Given the description of an element on the screen output the (x, y) to click on. 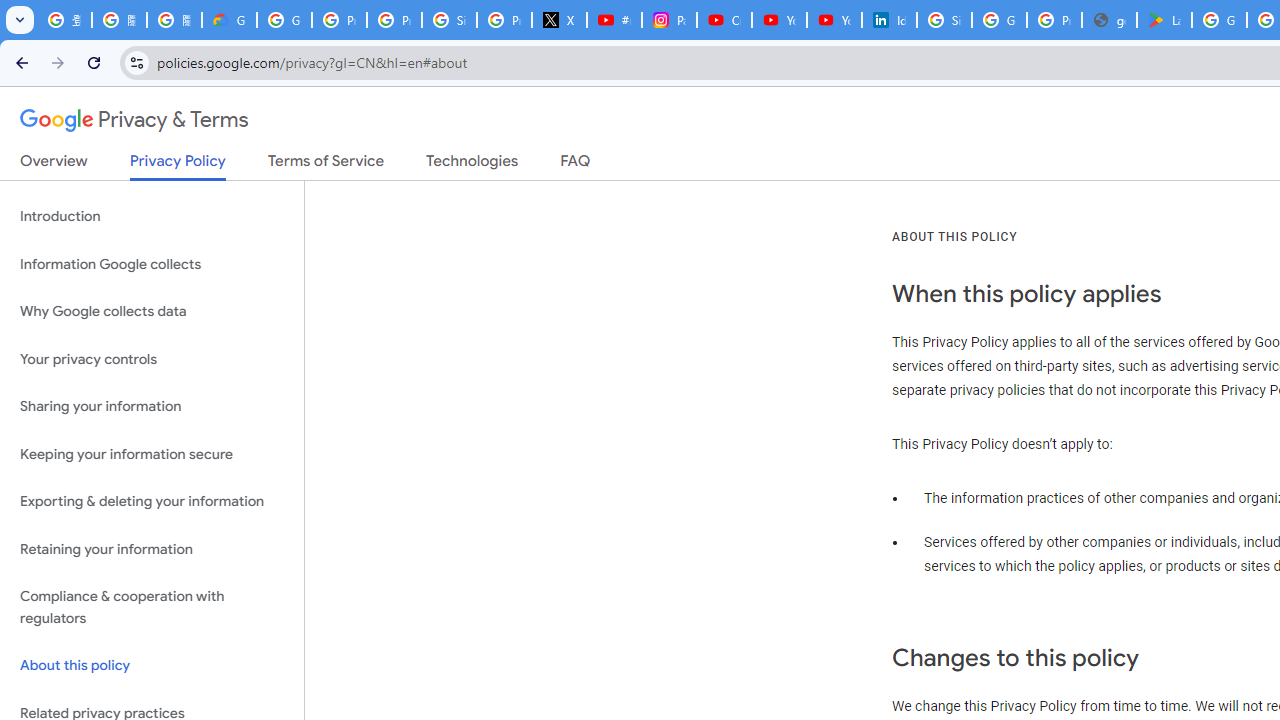
Google Cloud Privacy Notice (229, 20)
FAQ (575, 165)
Terms of Service (326, 165)
X (559, 20)
Sharing your information (152, 407)
Keeping your information secure (152, 453)
YouTube Culture & Trends - YouTube Top 10, 2021 (833, 20)
google_privacy_policy_en.pdf (1108, 20)
Information Google collects (152, 263)
